Given the description of an element on the screen output the (x, y) to click on. 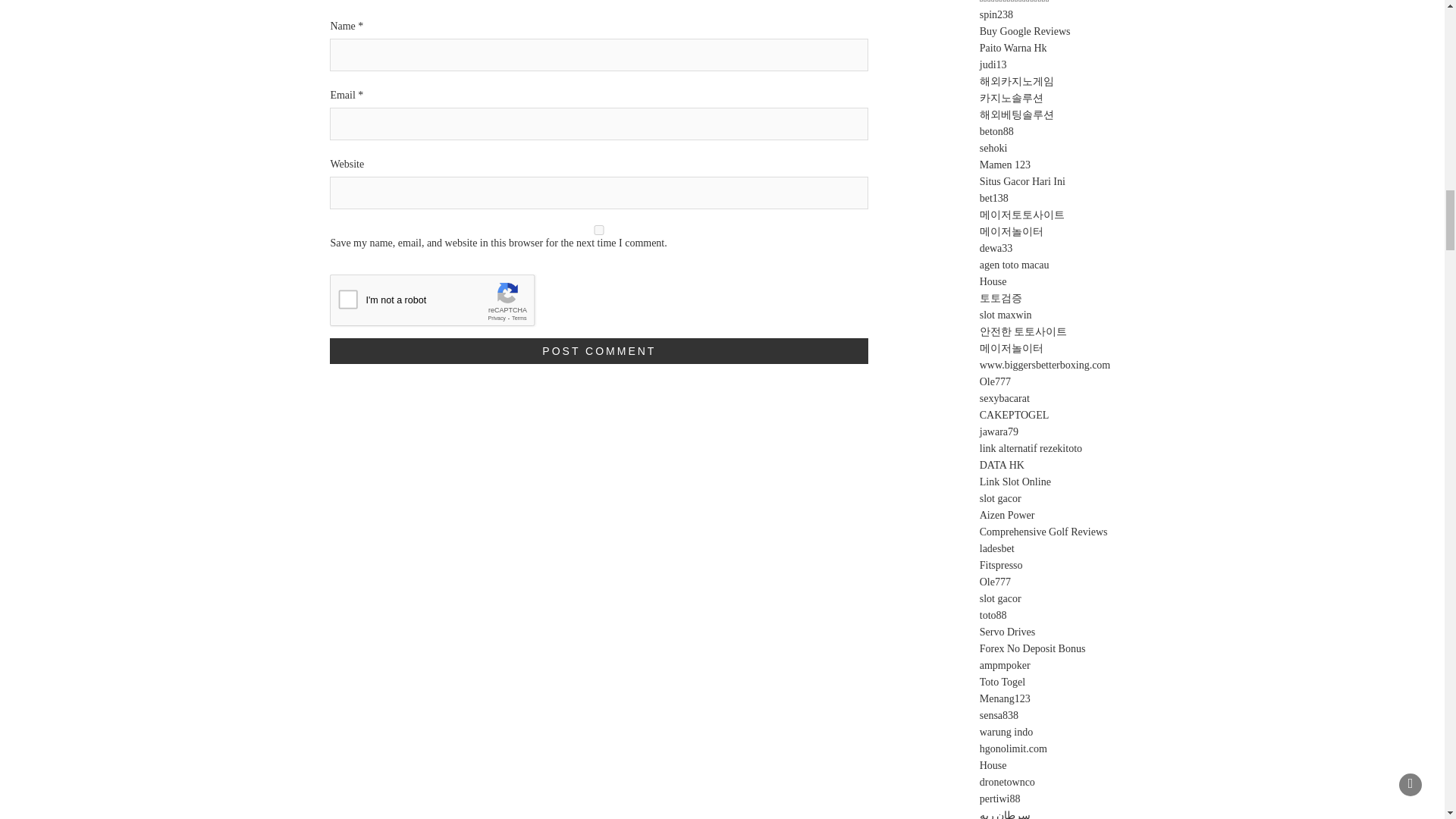
Post Comment (598, 350)
Post Comment (598, 350)
yes (598, 230)
reCAPTCHA (445, 303)
ladesbet (996, 548)
